Given the description of an element on the screen output the (x, y) to click on. 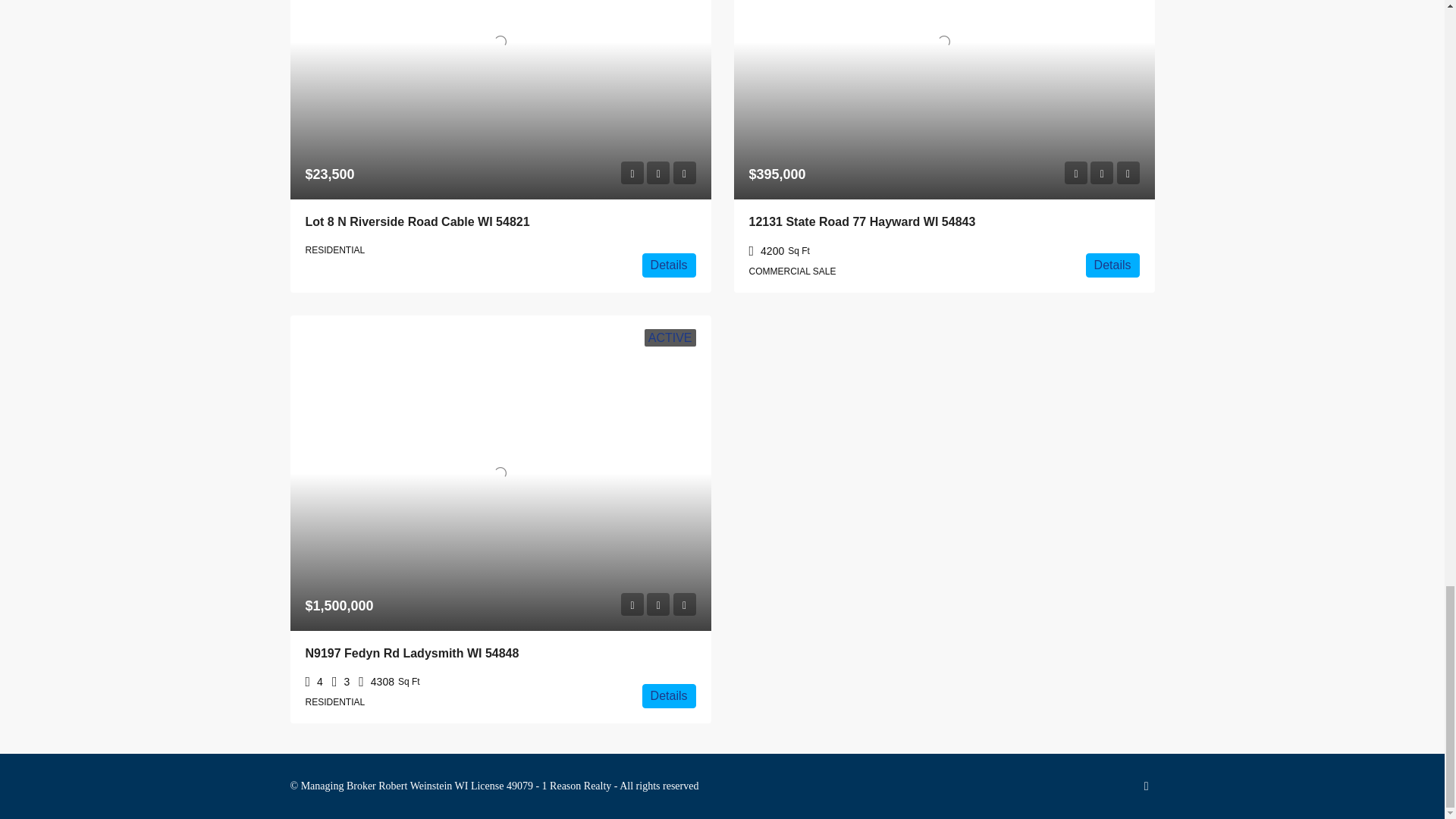
ACTIVE (670, 337)
N9197 Fedyn Rd Ladysmith WI 54848 (411, 653)
Lot 8 N Riverside Road Cable WI 54821 (416, 221)
12131 State Road 77 Hayward WI 54843 (862, 221)
Details (668, 265)
Details (1113, 265)
